Given the description of an element on the screen output the (x, y) to click on. 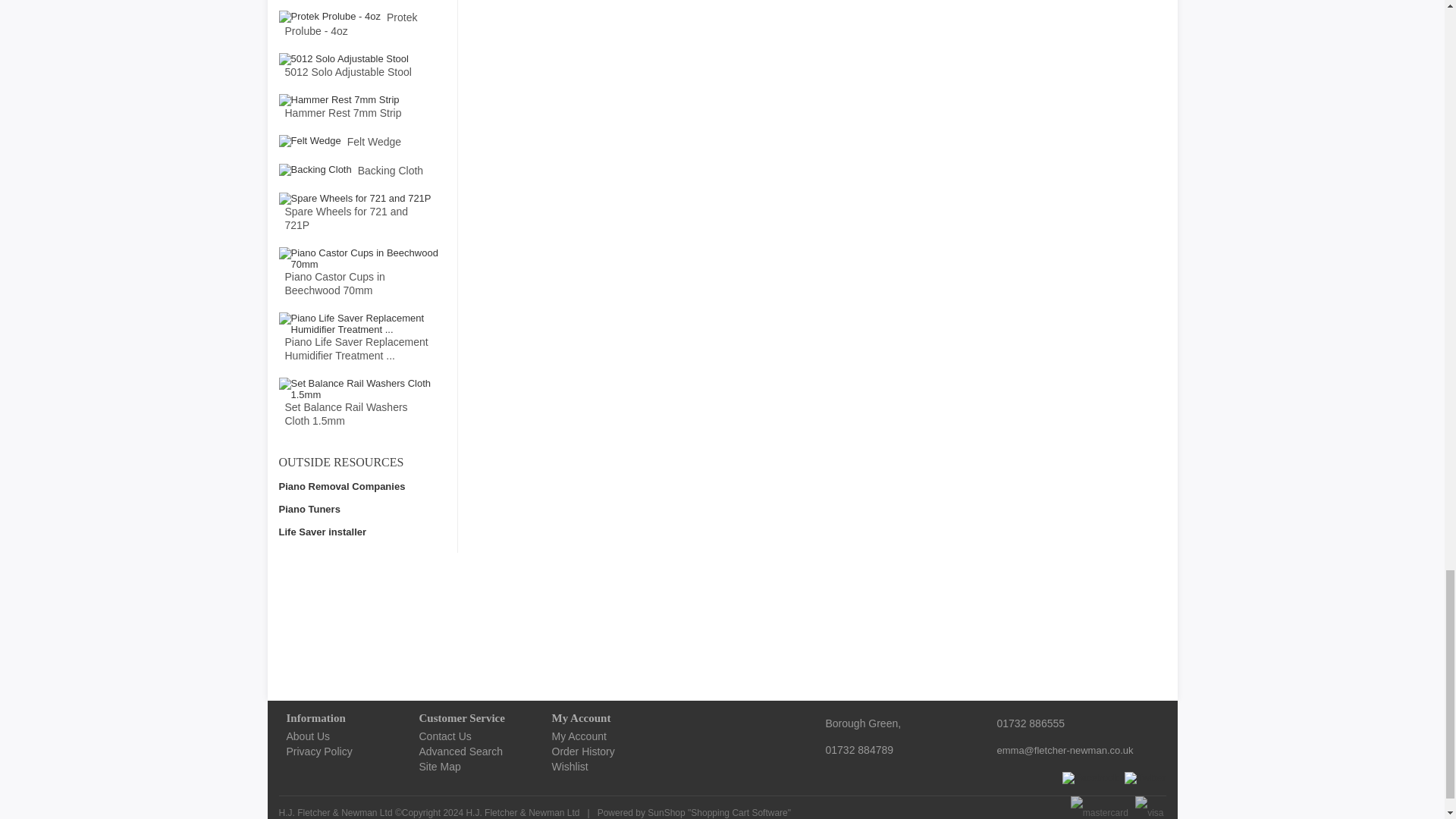
Twitter (1145, 777)
Ecommerce Shopping Cart Software (738, 812)
Facebook (1090, 777)
